Given the description of an element on the screen output the (x, y) to click on. 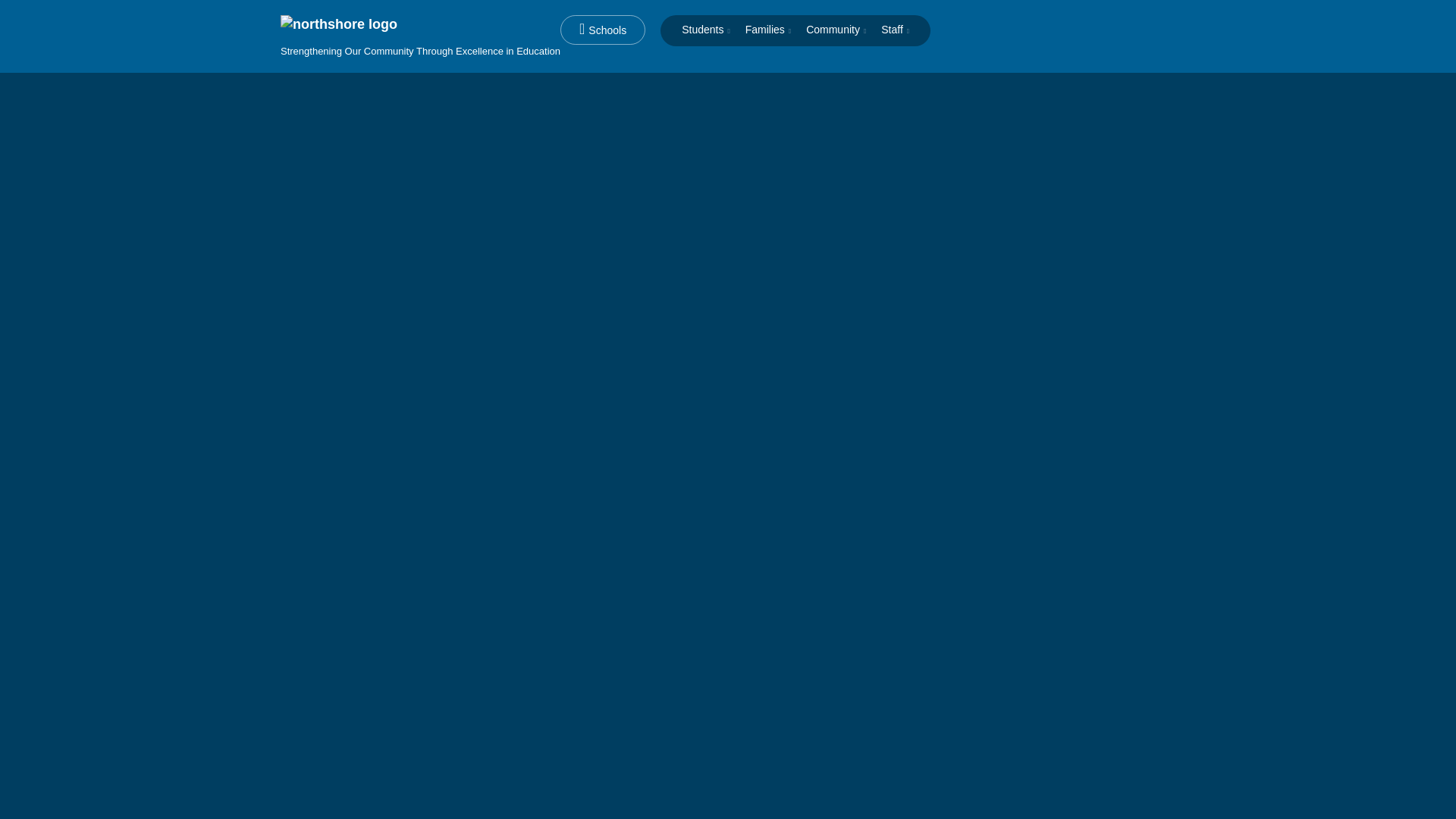
district logo (420, 36)
